Given the description of an element on the screen output the (x, y) to click on. 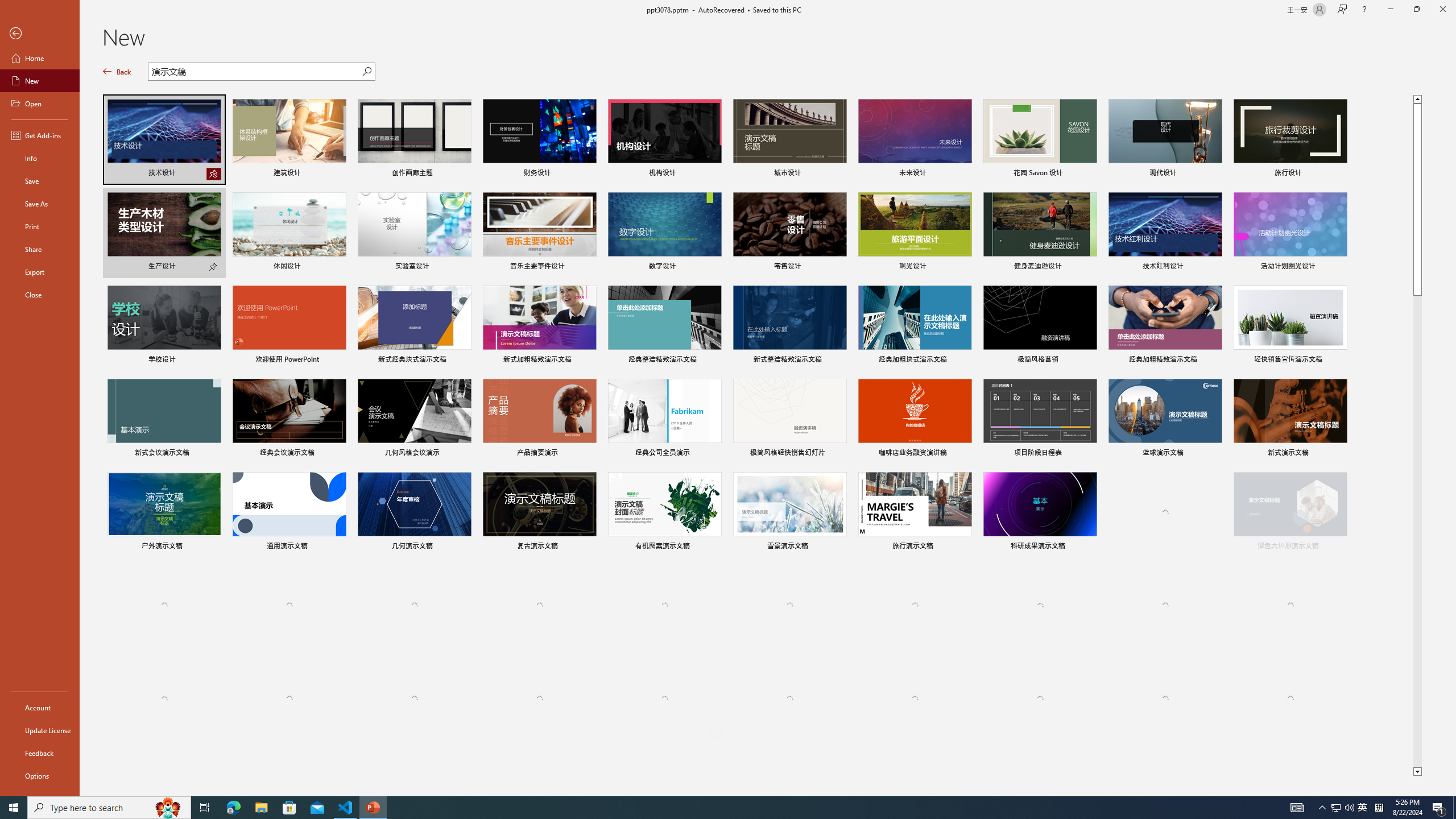
Update License (40, 730)
Pin to list (1339, 733)
Account (40, 707)
Class: NetUIAnimatedImage (1290, 698)
